Given the description of an element on the screen output the (x, y) to click on. 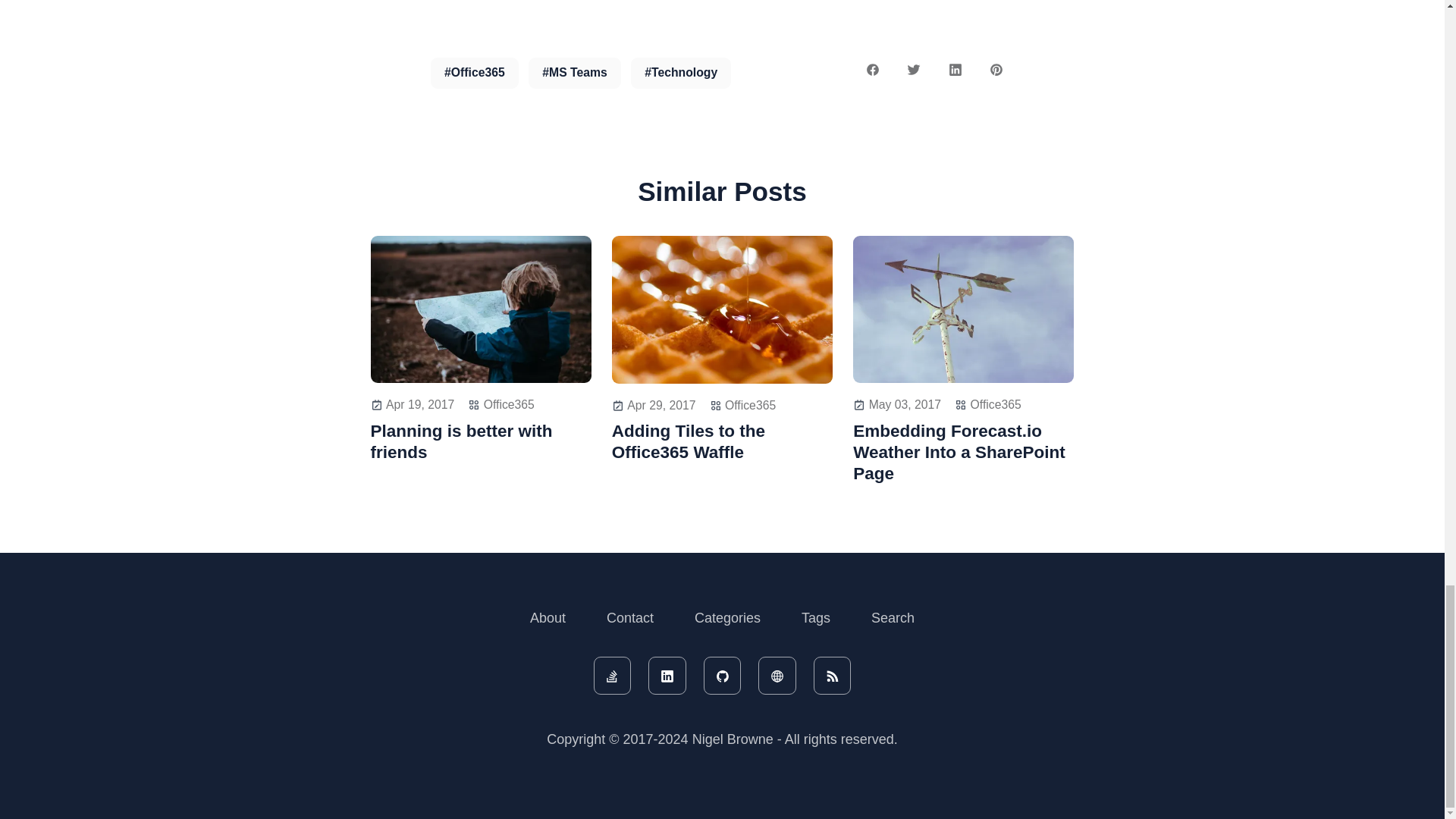
Tags (815, 618)
Embedding Forecast.io Weather Into a SharePoint Page (963, 452)
Categories (727, 618)
Contact (629, 618)
Office365 (750, 404)
Search (892, 618)
Office365 (508, 404)
Office365 (996, 404)
Planning is better with friends (480, 441)
About (547, 618)
Adding Tiles to the Office365 Waffle (721, 441)
